Given the description of an element on the screen output the (x, y) to click on. 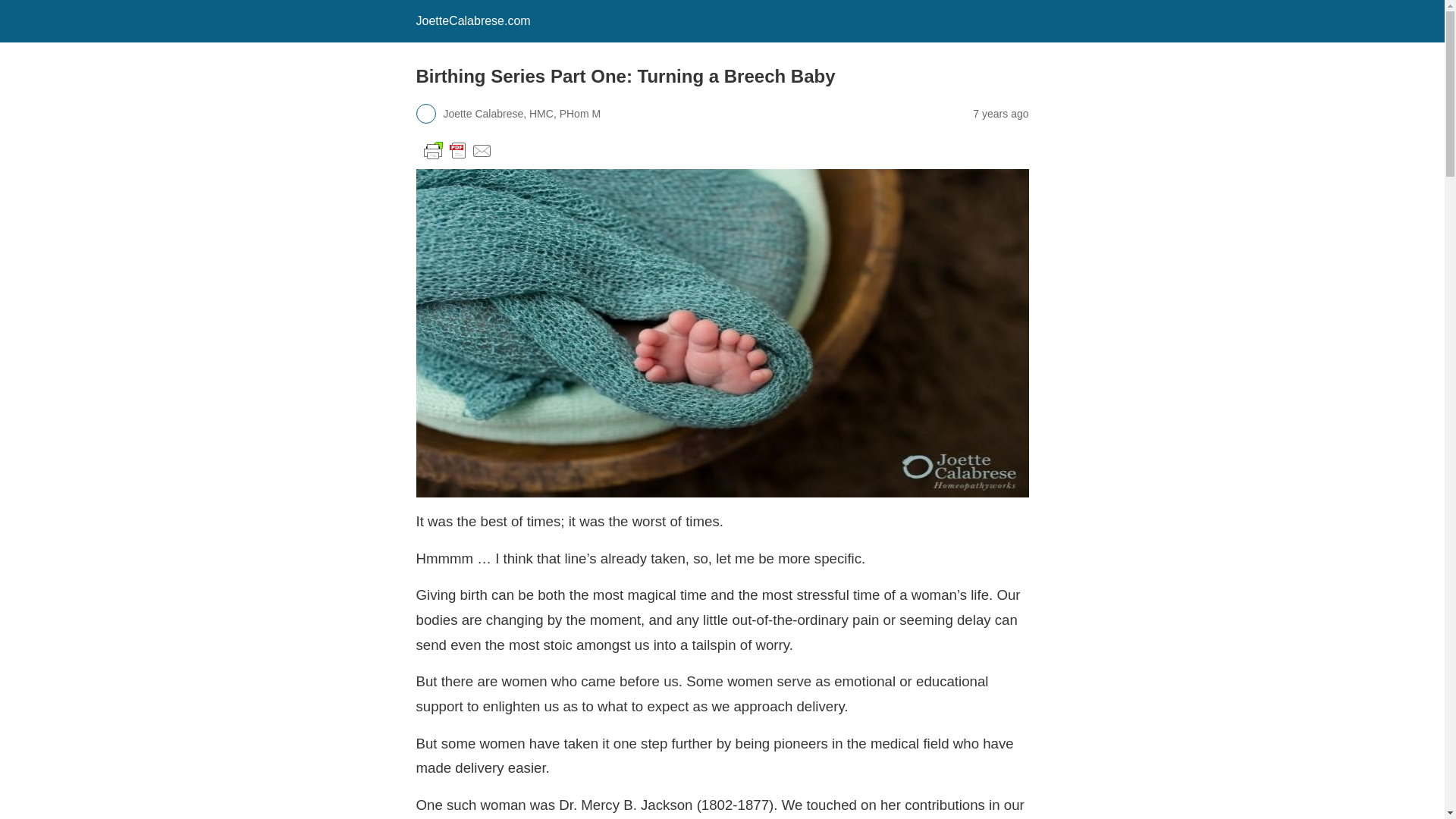
JoetteCalabrese.com (471, 20)
